Given the description of an element on the screen output the (x, y) to click on. 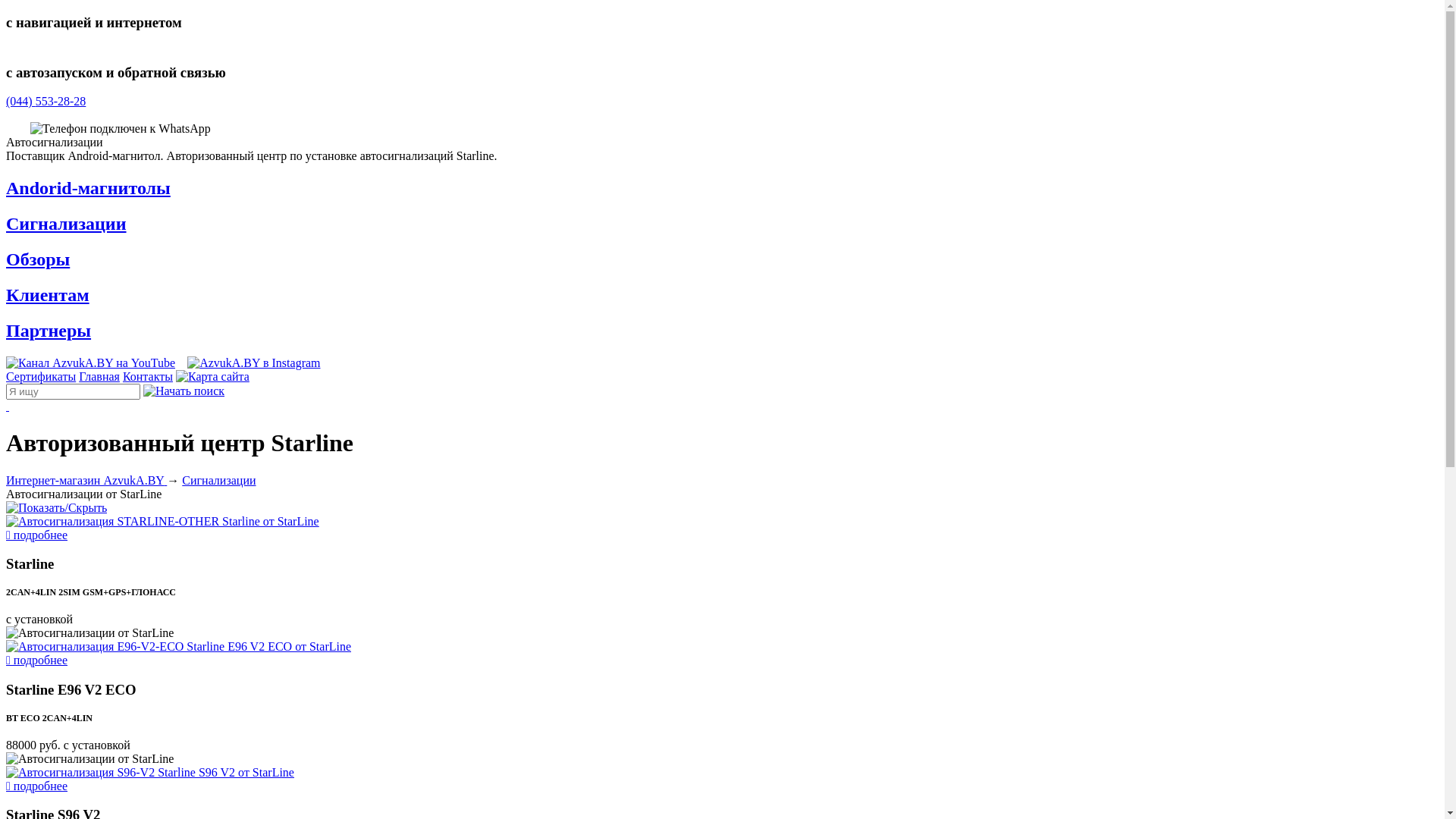
  Element type: text (722, 406)
(044) 553-28-28 Element type: text (722, 101)
